Given the description of an element on the screen output the (x, y) to click on. 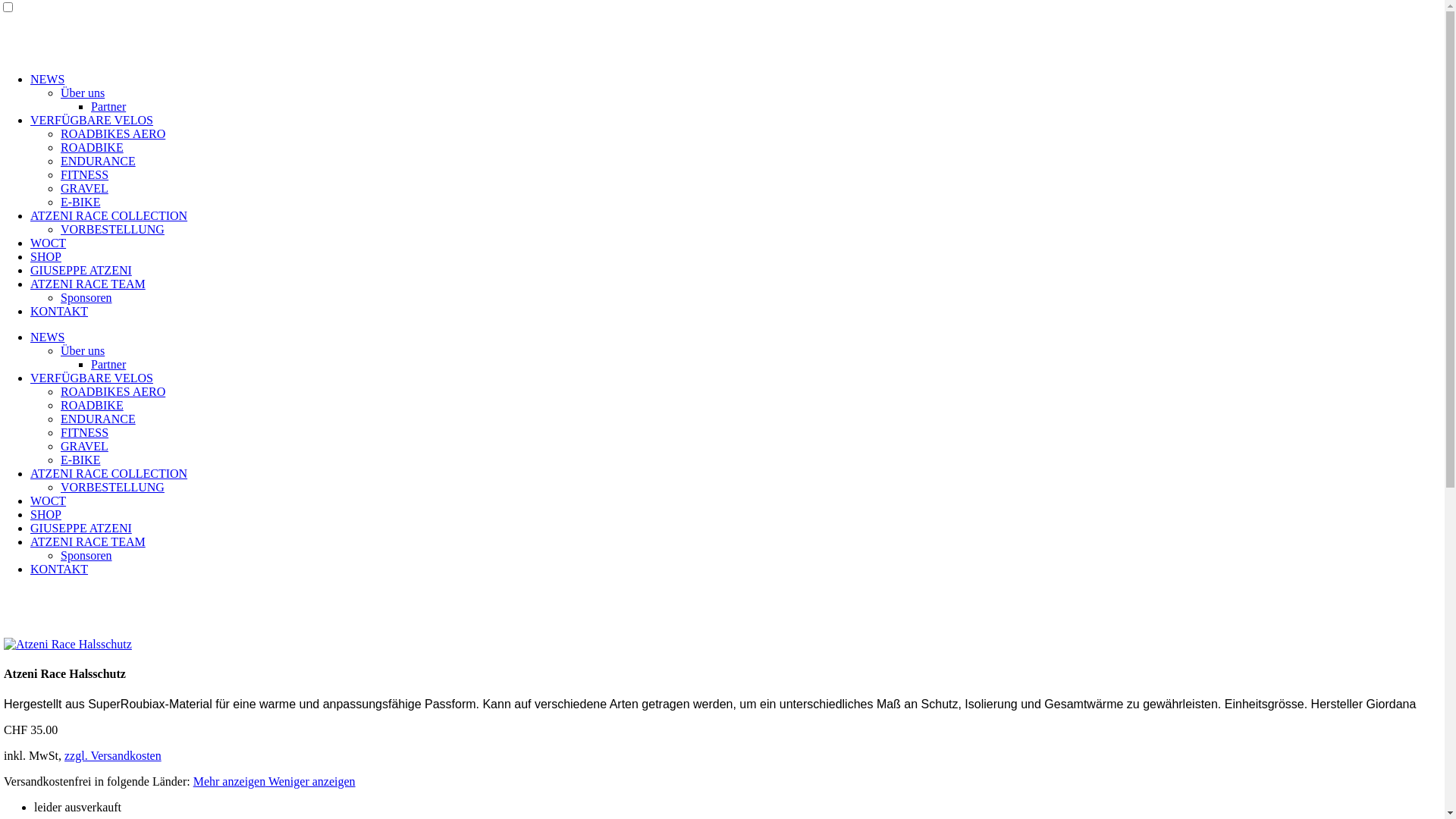
Partner Element type: text (108, 363)
GRAVEL Element type: text (84, 188)
WOCT Element type: text (47, 242)
ROADBIKES AERO Element type: text (112, 133)
E-BIKE Element type: text (80, 459)
SHOP Element type: text (45, 514)
WOCT Element type: text (47, 500)
ENDURANCE Element type: text (97, 160)
FITNESS Element type: text (84, 432)
ATZENI RACE COLLECTION Element type: text (108, 215)
Partner Element type: text (108, 106)
ATZENI RACE TEAM Element type: text (87, 283)
zzgl. Versandkosten Element type: text (112, 755)
ATZENI RACE TEAM Element type: text (87, 541)
SHOP Element type: text (45, 256)
VORBESTELLUNG Element type: text (112, 228)
E-BIKE Element type: text (80, 201)
ROADBIKE Element type: text (91, 147)
ROADBIKES AERO Element type: text (112, 391)
NEWS Element type: text (47, 336)
ROADBIKE Element type: text (91, 404)
GIUSEPPE ATZENI Element type: text (80, 527)
GIUSEPPE ATZENI Element type: text (80, 269)
KONTAKT Element type: text (58, 568)
ENDURANCE Element type: text (97, 418)
VORBESTELLUNG Element type: text (112, 486)
ATZENI RACE COLLECTION Element type: text (108, 473)
Mehr anzeigen Weniger anzeigen Element type: text (274, 781)
Sponsoren Element type: text (86, 297)
KONTAKT Element type: text (58, 310)
NEWS Element type: text (47, 78)
GRAVEL Element type: text (84, 445)
FITNESS Element type: text (84, 174)
Sponsoren Element type: text (86, 555)
